Given the description of an element on the screen output the (x, y) to click on. 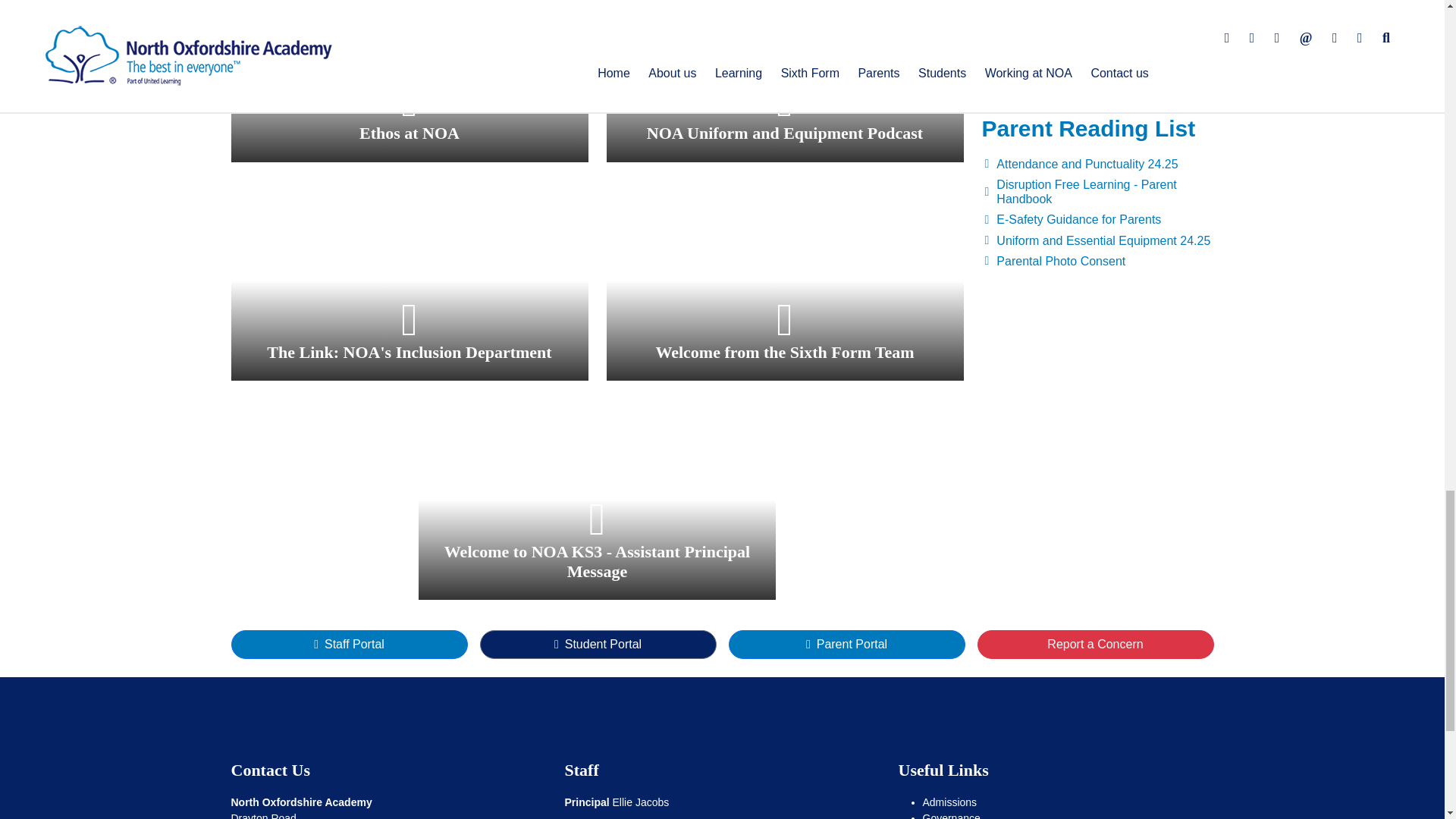
Attendance Expectations 24.25 (1096, 15)
Biometric Technology Agreement 24.25 (1096, 36)
Taking, Storing and using images of children 24.25 (1096, 2)
Home Learning 24.25 (1096, 56)
